Given the description of an element on the screen output the (x, y) to click on. 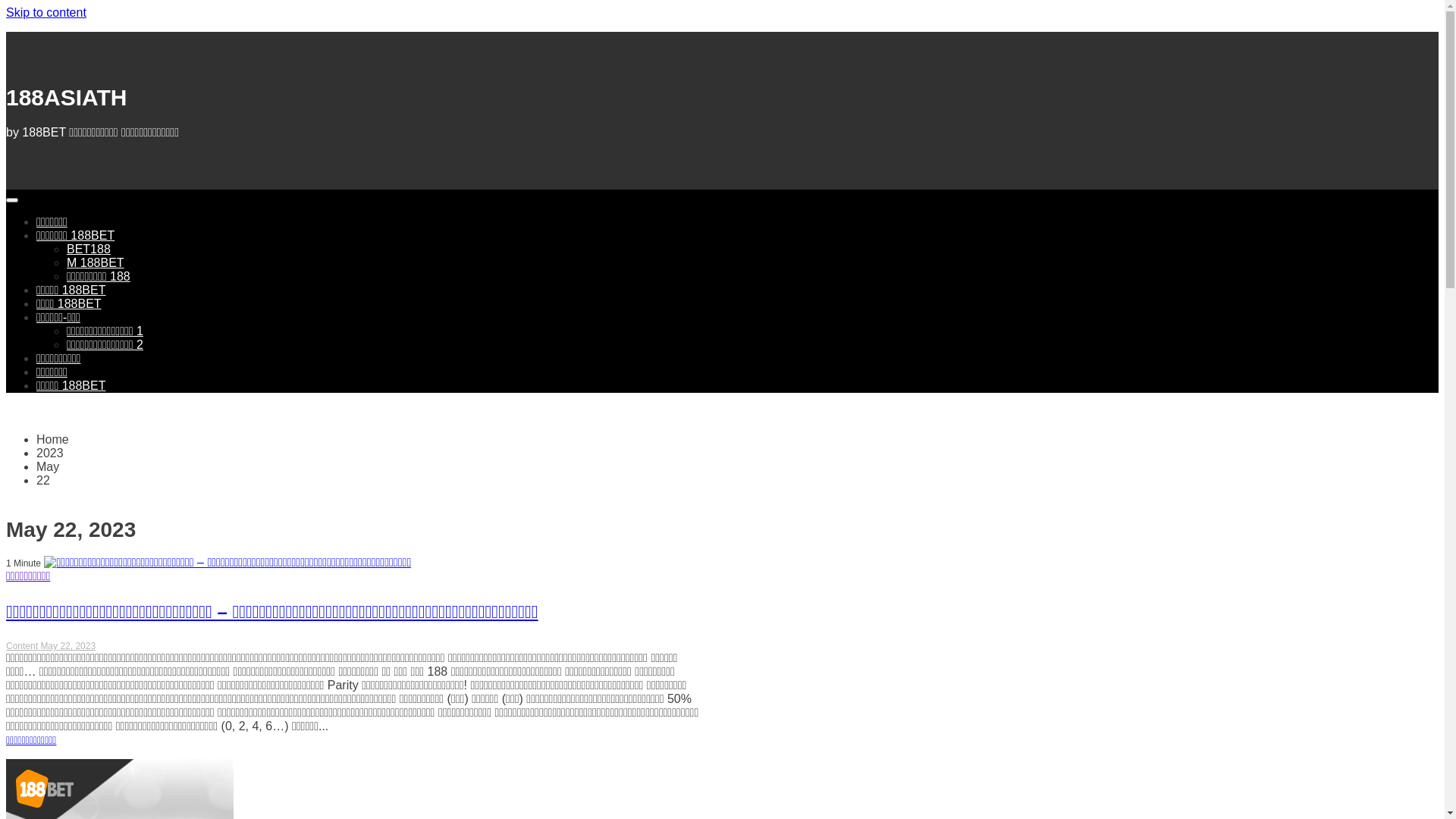
M 188BET Element type: text (95, 262)
Content Element type: text (23, 645)
May 22, 2023 Element type: text (67, 645)
2023 Element type: text (49, 452)
BET188 Element type: text (88, 248)
Home Element type: text (52, 439)
188ASIATH Element type: text (66, 96)
Skip to content Element type: text (46, 12)
May Element type: text (47, 466)
